Given the description of an element on the screen output the (x, y) to click on. 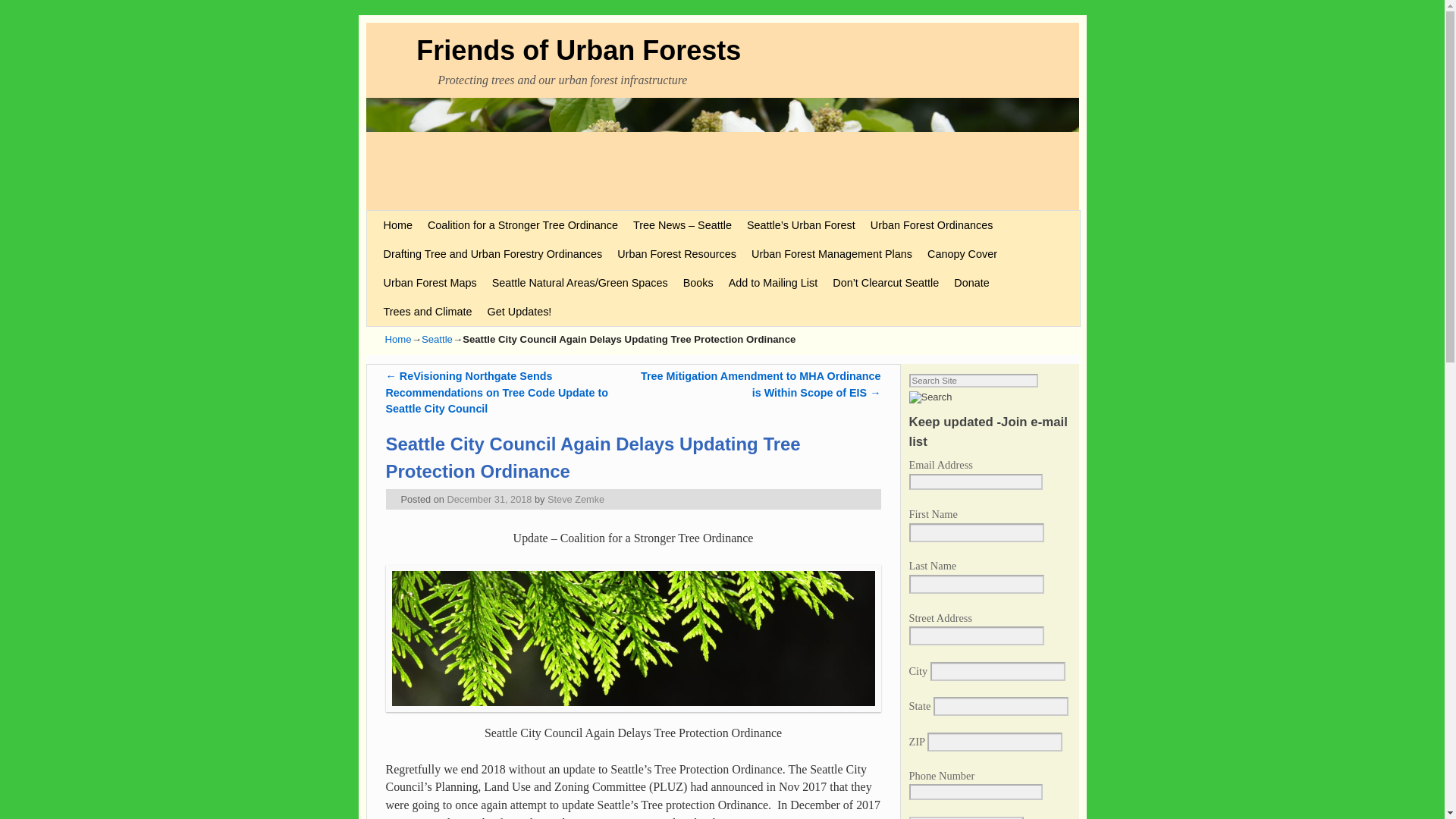
Steve Zemke (575, 499)
Skip to primary content (408, 216)
Urban Forest Ordinances (932, 224)
Friends of Urban Forests (578, 50)
Coalition for a Stronger Tree Ordinance (523, 224)
Receive e-mail updates (965, 817)
Skip to secondary content (412, 216)
Home (398, 338)
Drafting Tree and Urban Forestry Ordinances (492, 253)
Home (397, 224)
